Given the description of an element on the screen output the (x, y) to click on. 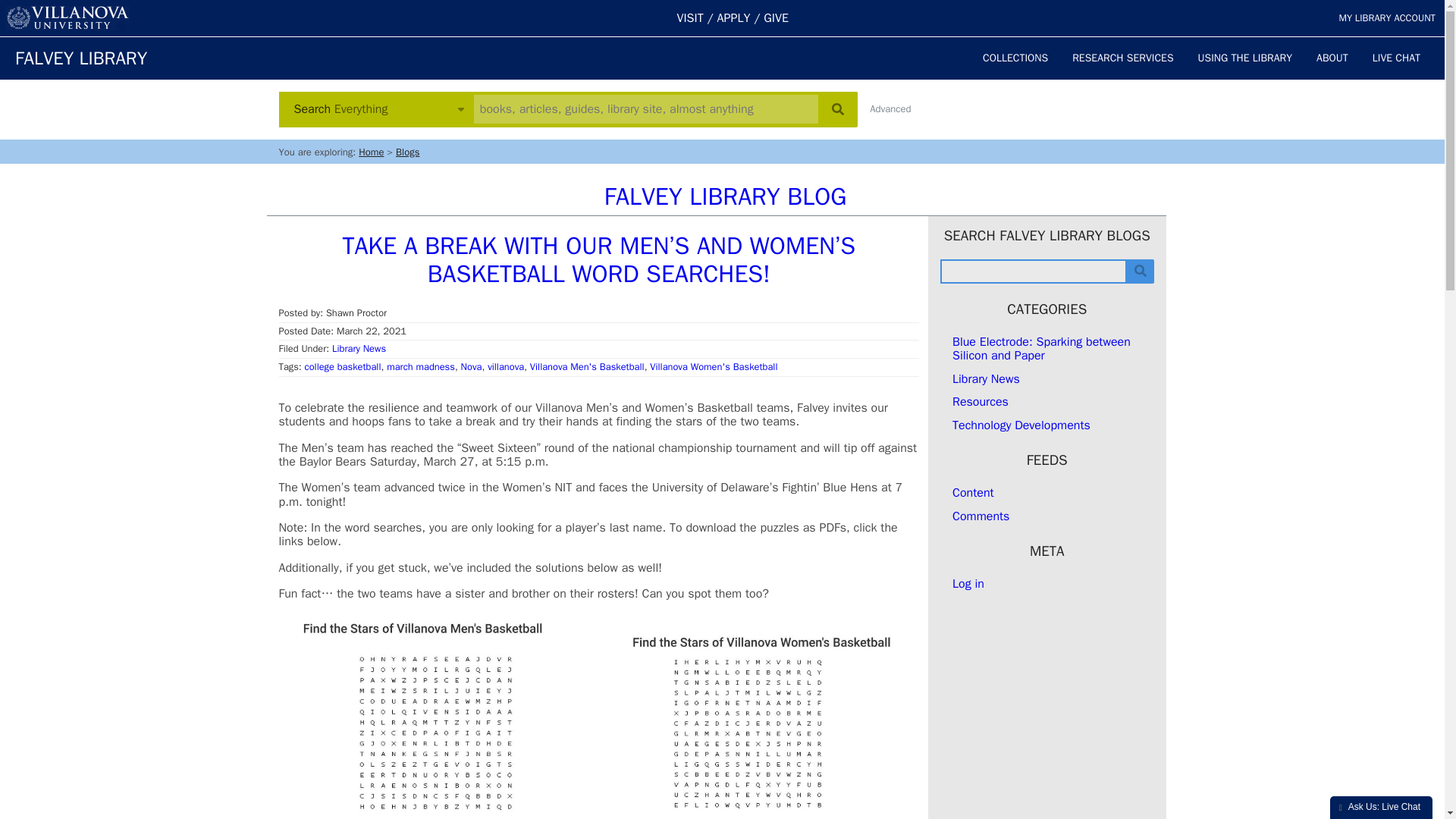
GIVE (775, 17)
VISIT (690, 17)
COLLECTIONS (1015, 57)
Syndicate this site using RSS (973, 492)
The latest comments to all posts in RSS (980, 516)
APPLY (734, 17)
RESEARCH SERVICES (1122, 57)
MY LIBRARY ACCOUNT (1386, 18)
